Given the description of an element on the screen output the (x, y) to click on. 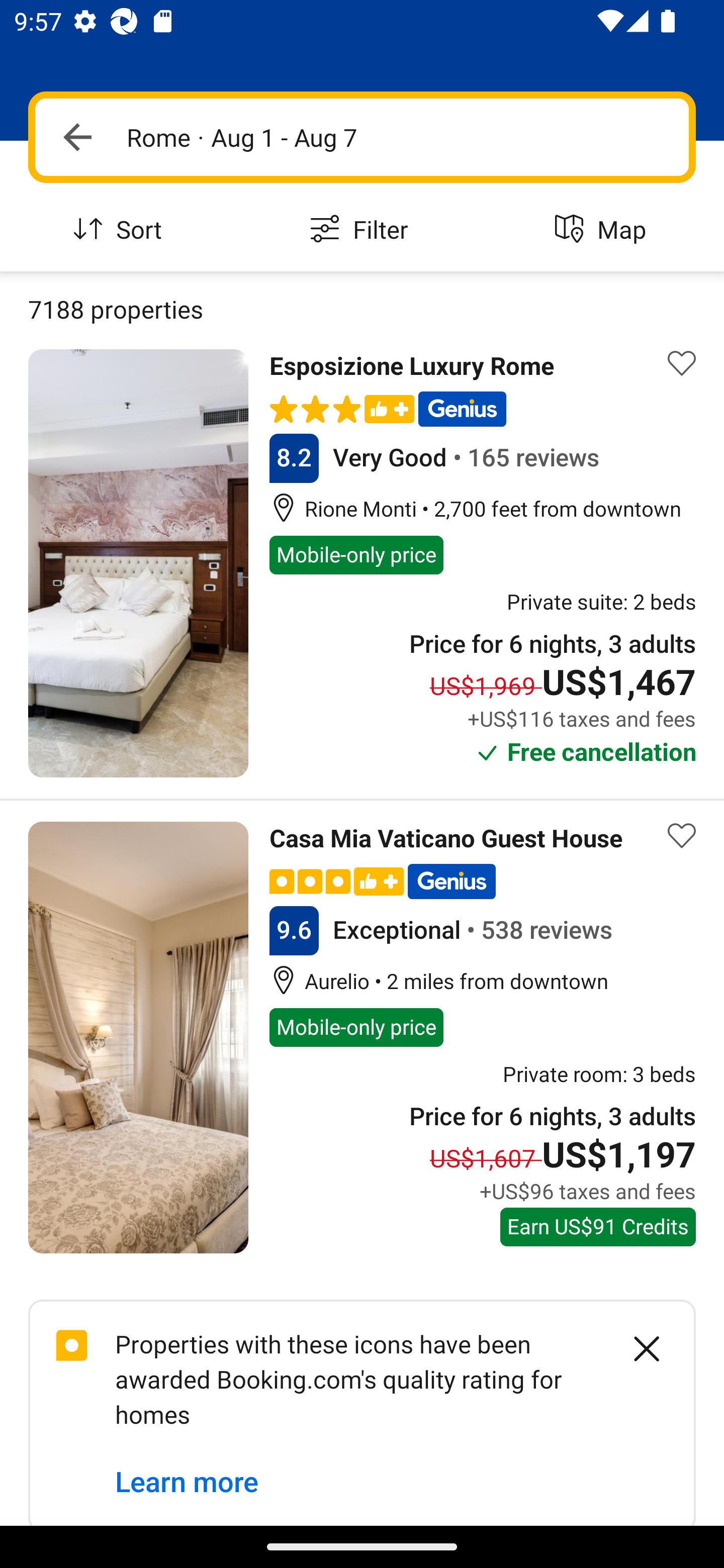
Navigate up Rome · Aug 1 - Aug 7 (362, 136)
Navigate up (77, 136)
Sort (120, 230)
Filter (361, 230)
Map (603, 230)
Save property to list (681, 363)
Save property to list (681, 835)
Clear (635, 1348)
Learn more (187, 1482)
